Given the description of an element on the screen output the (x, y) to click on. 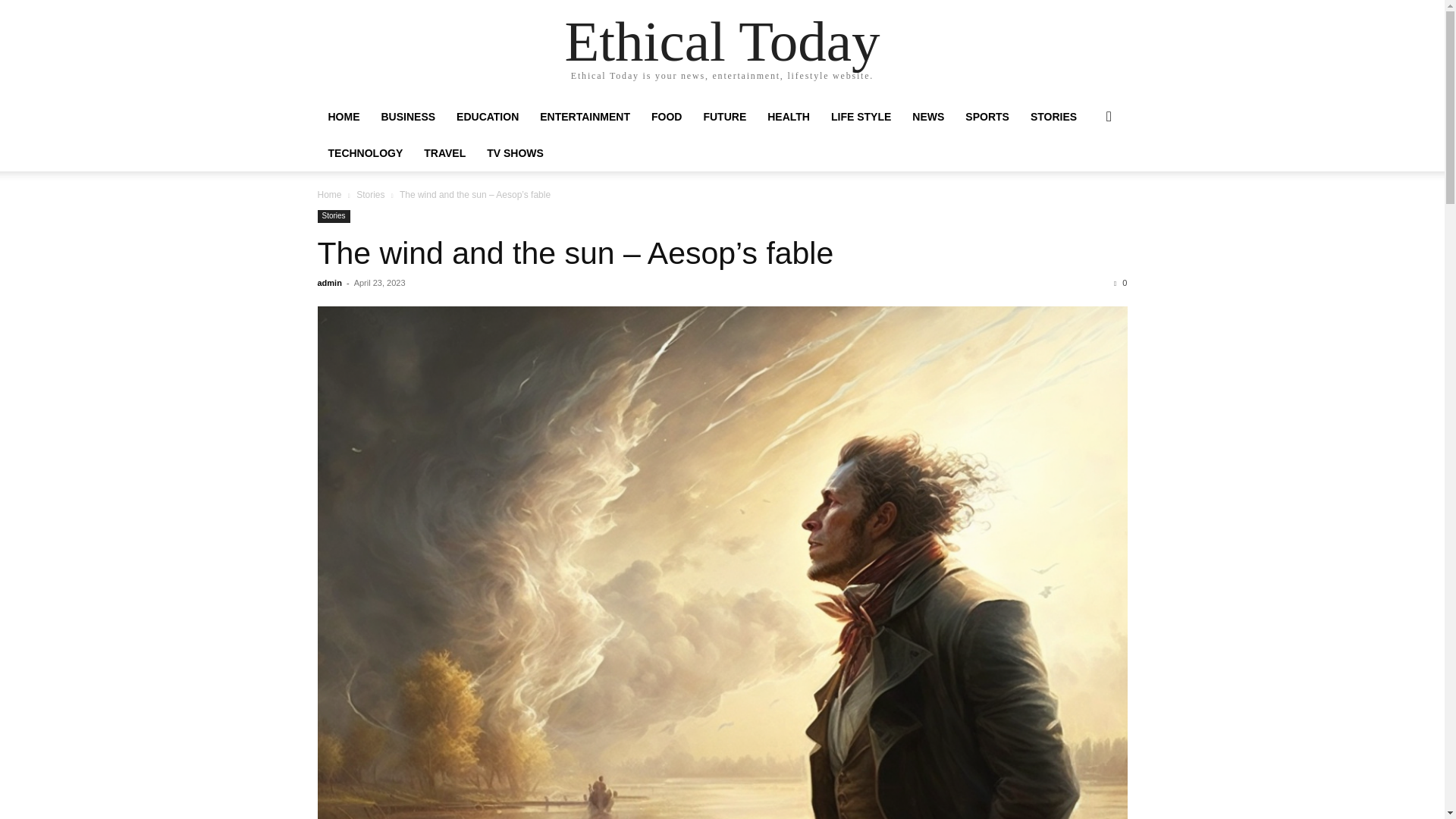
BUSINESS (407, 116)
FOOD (666, 116)
SPORTS (987, 116)
STORIES (1053, 116)
HEALTH (789, 116)
Stories (370, 194)
TRAVEL (444, 152)
EDUCATION (487, 116)
Search (1085, 177)
ENTERTAINMENT (584, 116)
